Given the description of an element on the screen output the (x, y) to click on. 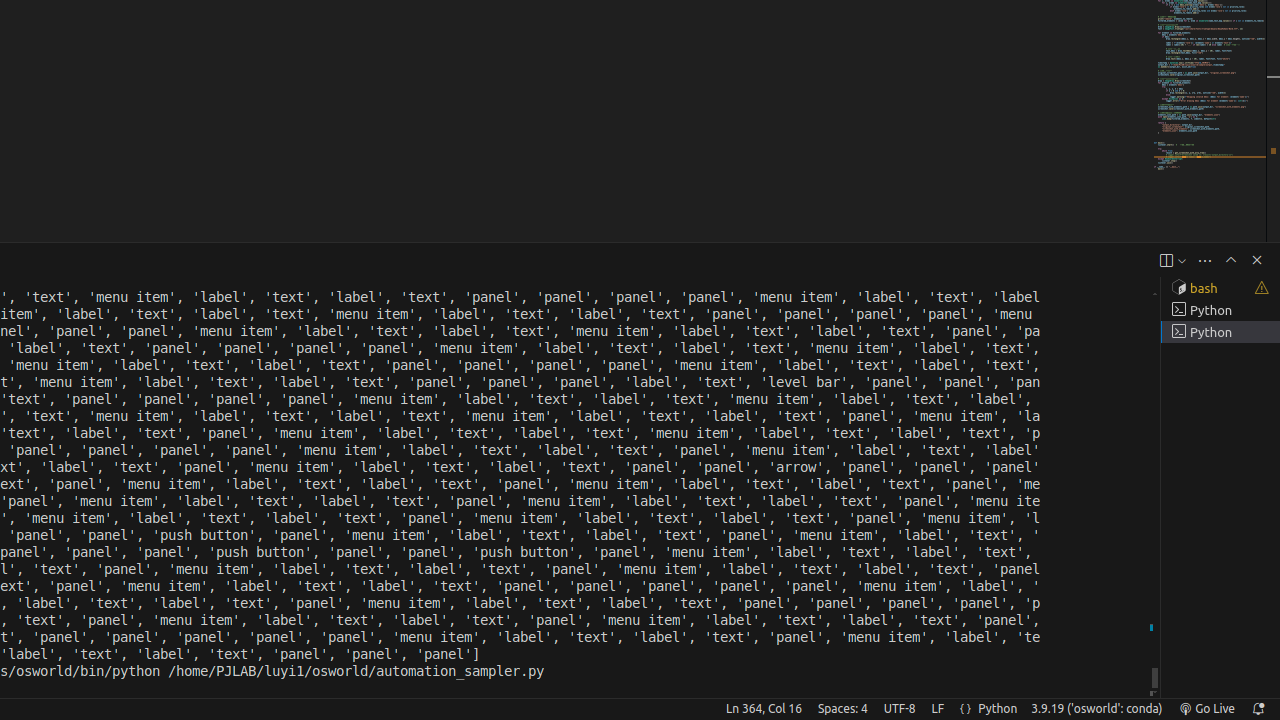
Hide Panel Element type: push-button (1257, 260)
New Terminal (Ctrl+Shift+`) [Alt] Split Terminal (Ctrl+Shift+5) Element type: push-button (1166, 260)
